Given the description of an element on the screen output the (x, y) to click on. 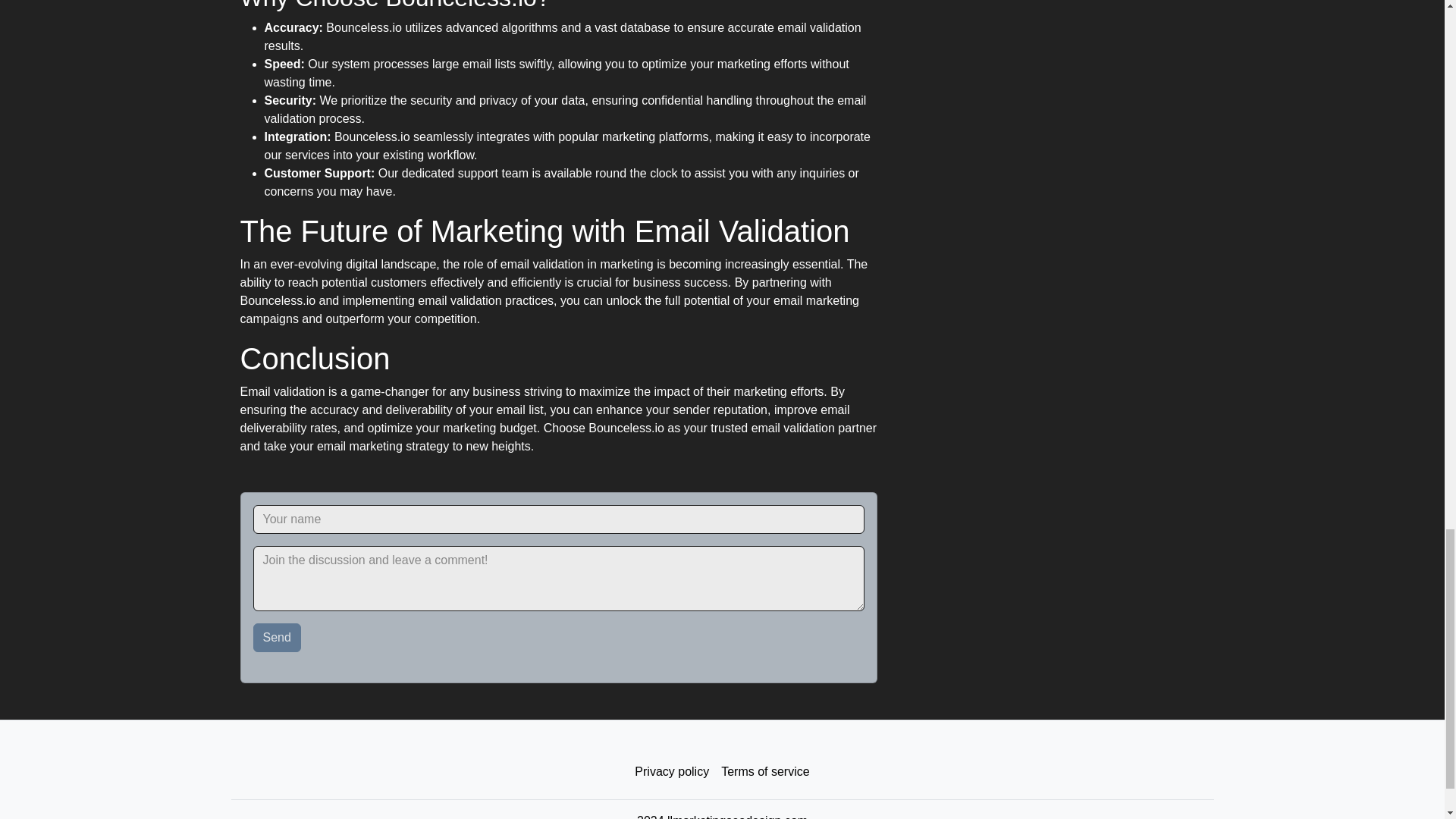
Privacy policy (671, 771)
Send (277, 637)
Send (277, 637)
Terms of service (764, 771)
